Given the description of an element on the screen output the (x, y) to click on. 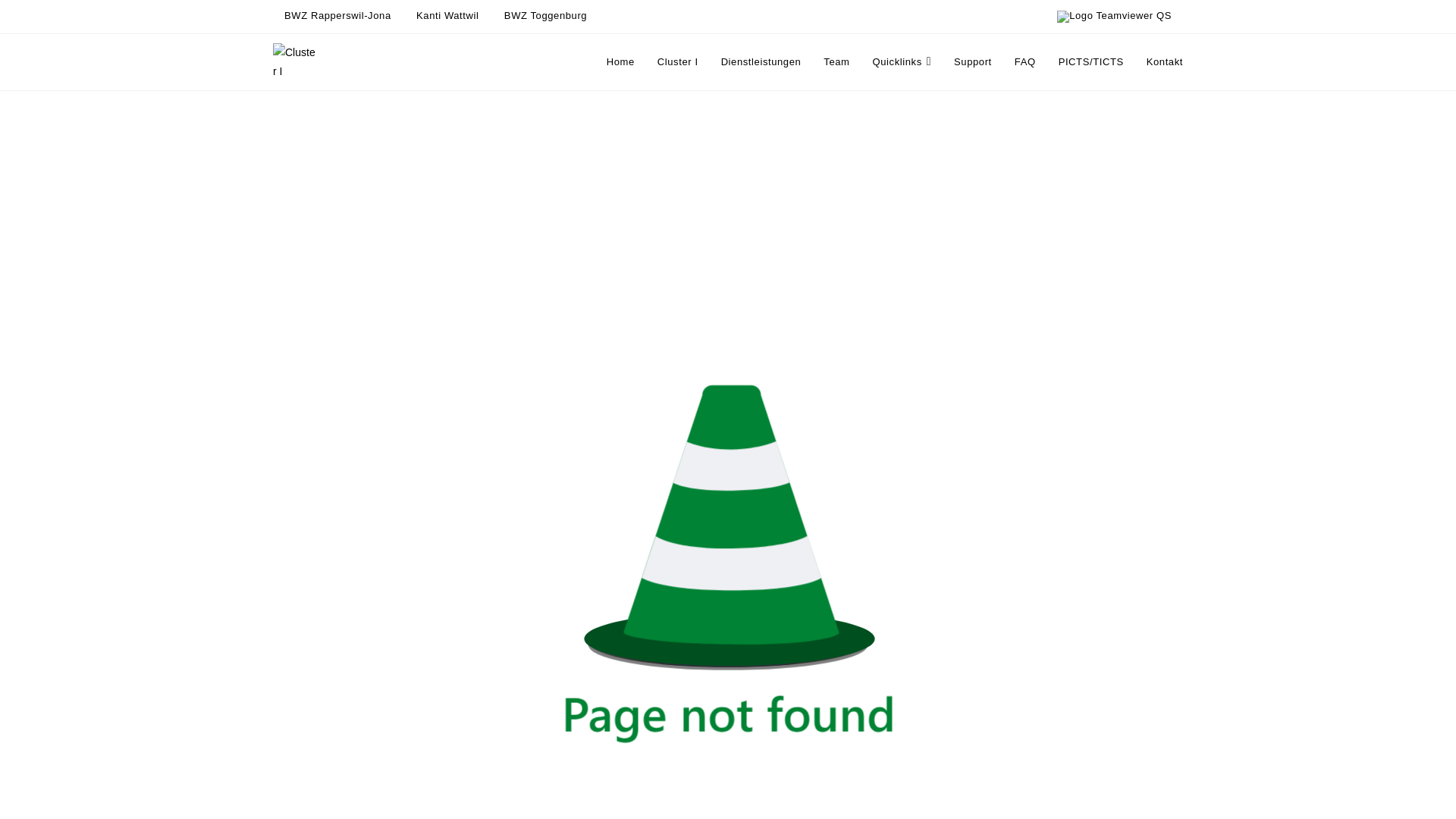
Kanti Wattwil Element type: text (446, 15)
Team Element type: text (836, 62)
Home Element type: text (620, 62)
Dienstleistungen Element type: text (760, 62)
Teamviewer QS Element type: text (1114, 16)
BWZ Rapperswil-Jona Element type: text (337, 15)
Support Element type: text (972, 62)
Cluster I Element type: text (677, 62)
Kontakt Element type: text (1164, 62)
BWZ Toggenburg Element type: text (545, 15)
FAQ Element type: text (1025, 62)
Quicklinks Element type: text (902, 62)
PICTS/TICTS Element type: text (1091, 62)
